Given the description of an element on the screen output the (x, y) to click on. 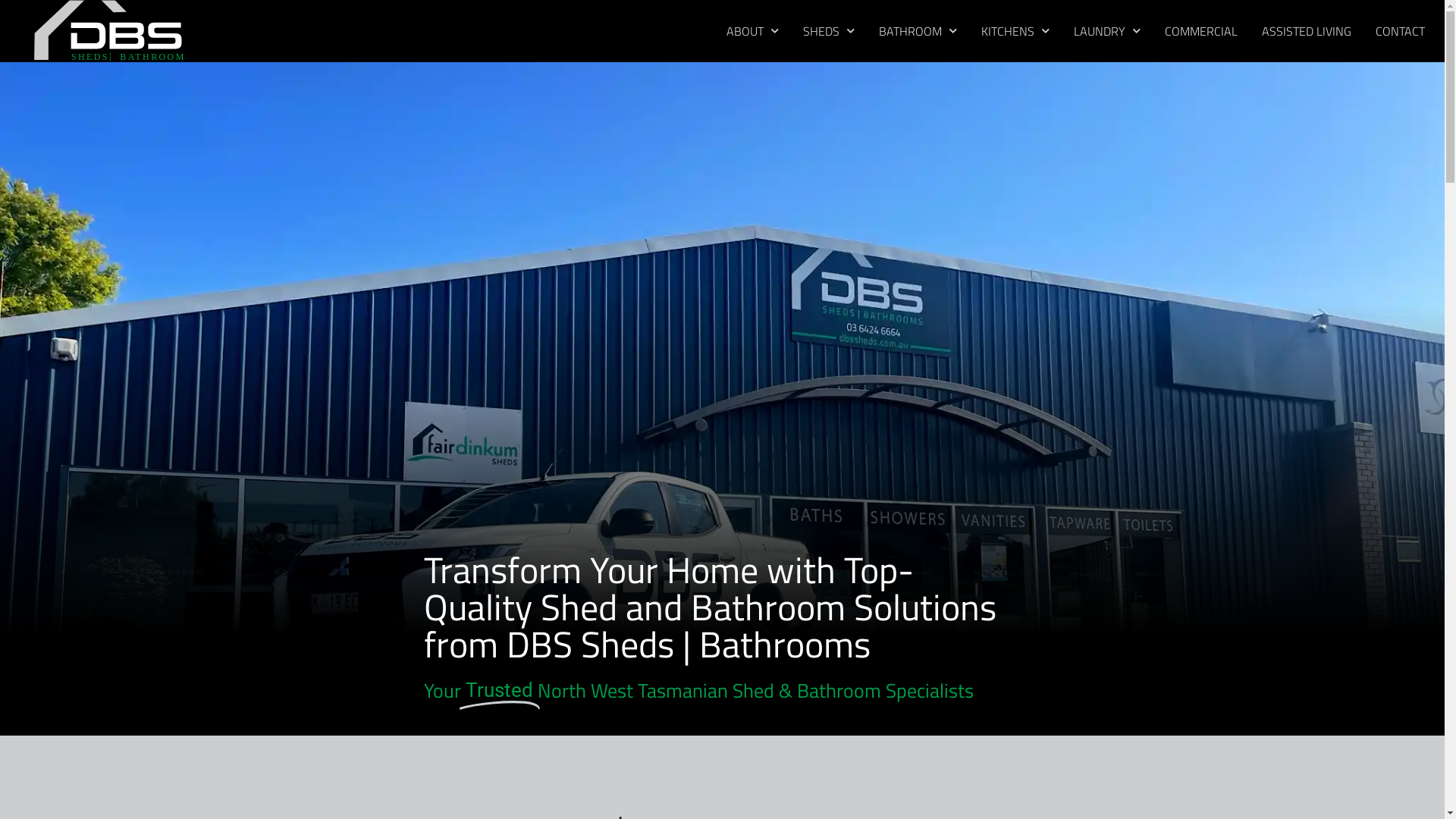
BATHROOM Element type: text (917, 30)
ASSISTED LIVING Element type: text (1306, 30)
KITCHENS Element type: text (1015, 30)
SHEDS Element type: text (828, 30)
CONTACT Element type: text (1400, 30)
ABOUT Element type: text (752, 30)
LAUNDRY Element type: text (1106, 30)
COMMERCIAL Element type: text (1200, 30)
